Given the description of an element on the screen output the (x, y) to click on. 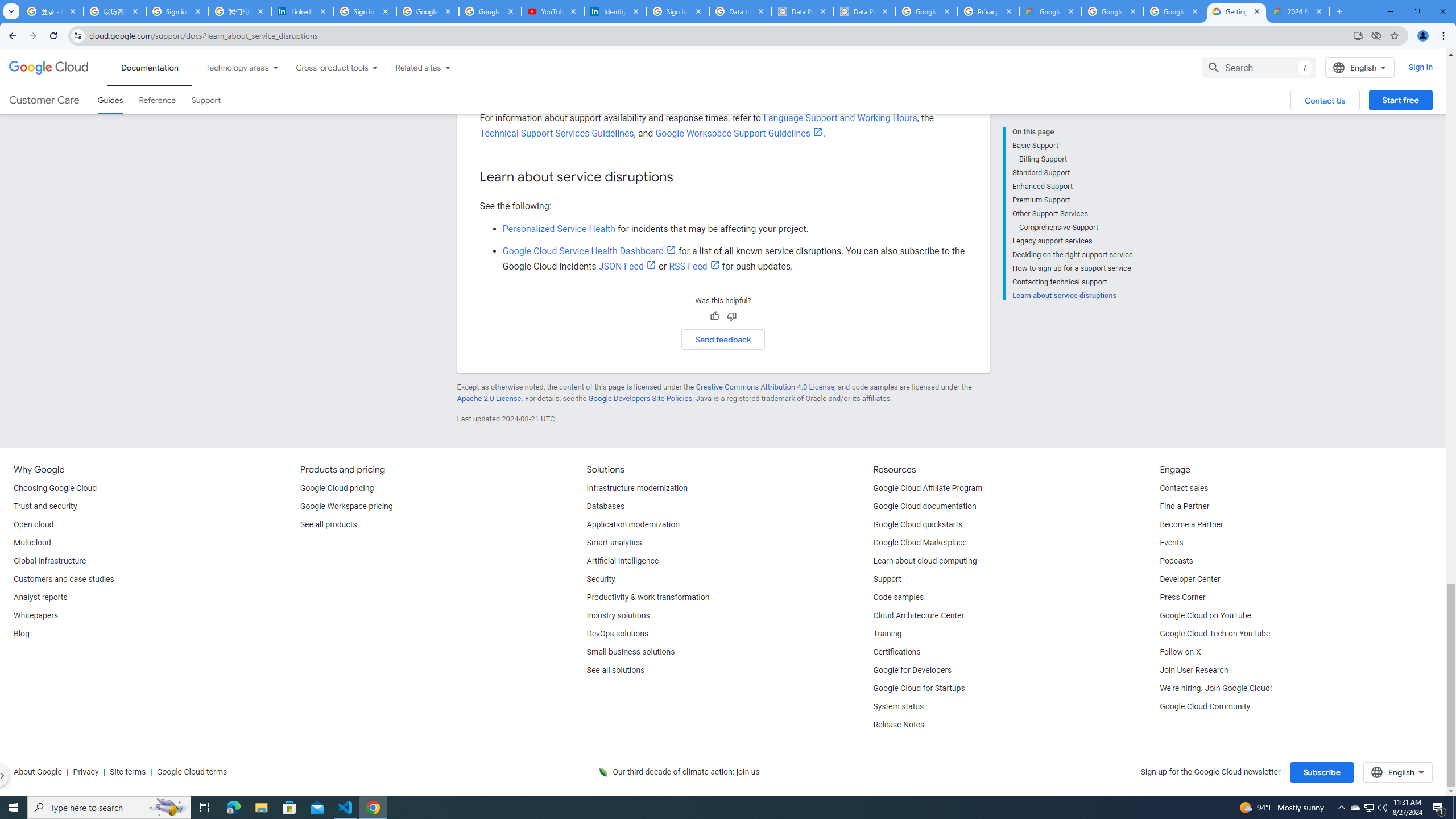
Industry solutions (617, 615)
Smart analytics (614, 542)
Copy link to this section: Learn about service disruptions (683, 177)
Creative Commons Attribution 4.0 License (764, 386)
Personalized Service Health (558, 228)
Press Corner (1181, 597)
Contacting technical support (1071, 282)
Dropdown menu for Related sites (447, 67)
Apache 2.0 License (489, 397)
